Given the description of an element on the screen output the (x, y) to click on. 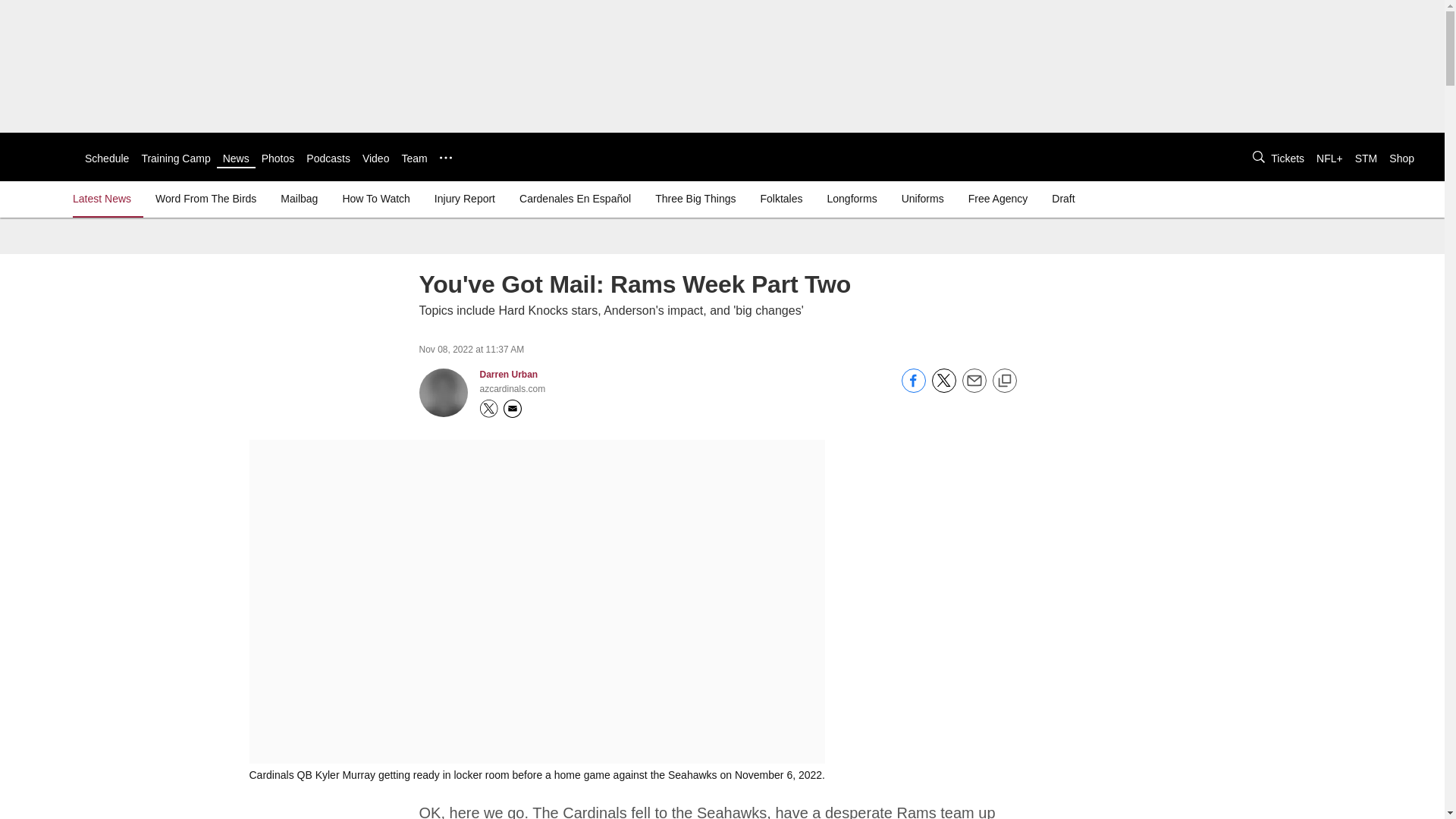
Link to club's homepage (42, 156)
Photos (278, 158)
Mailbag (299, 198)
Team (413, 158)
Folktales (781, 198)
STM (1366, 158)
Training Camp (175, 158)
Schedule (106, 158)
... (445, 157)
Podcasts (327, 158)
News (235, 158)
Video (376, 158)
Training Camp (175, 158)
Latest News (104, 198)
Tickets (1287, 158)
